Given the description of an element on the screen output the (x, y) to click on. 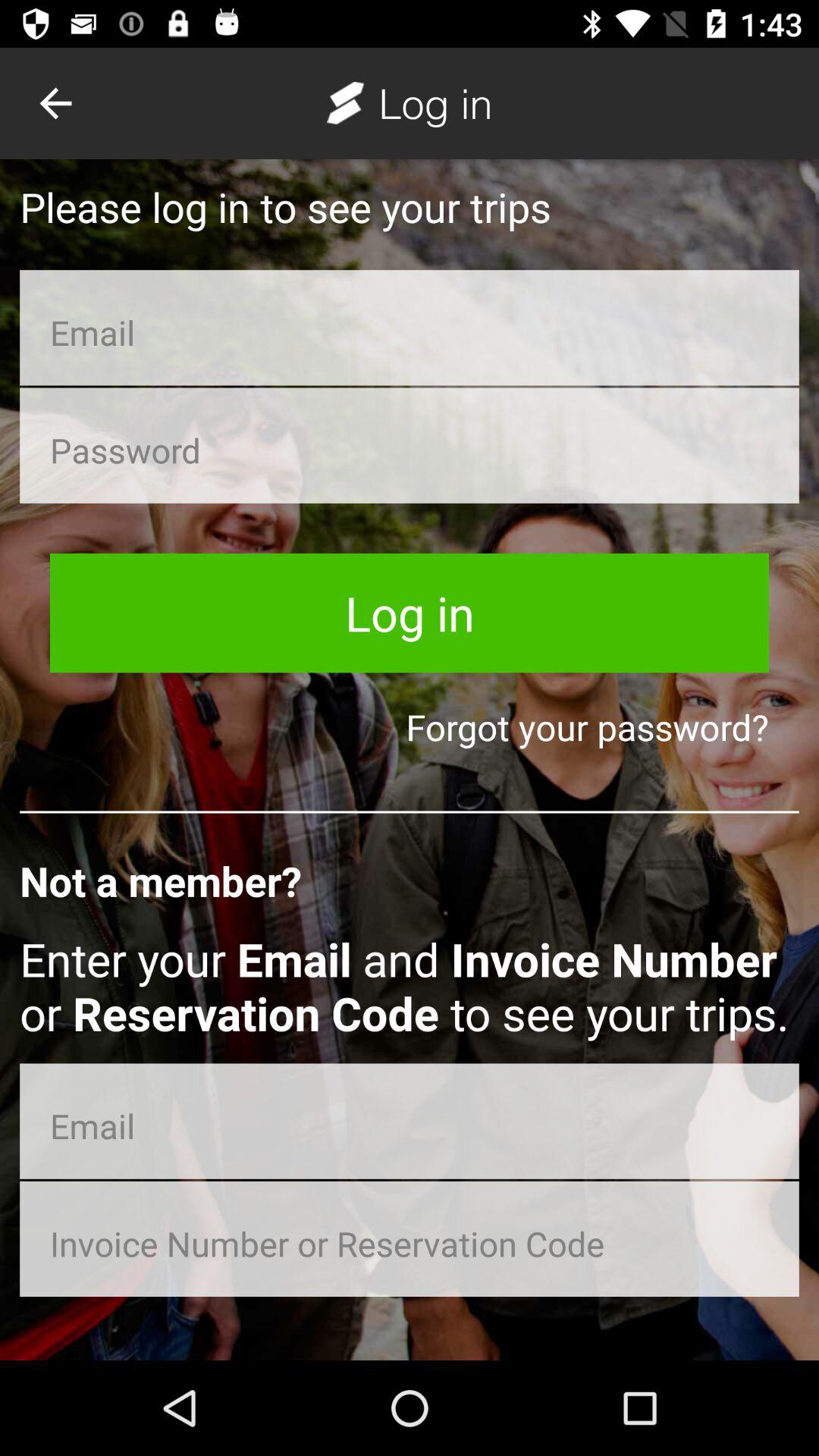
password entry field (409, 445)
